Given the description of an element on the screen output the (x, y) to click on. 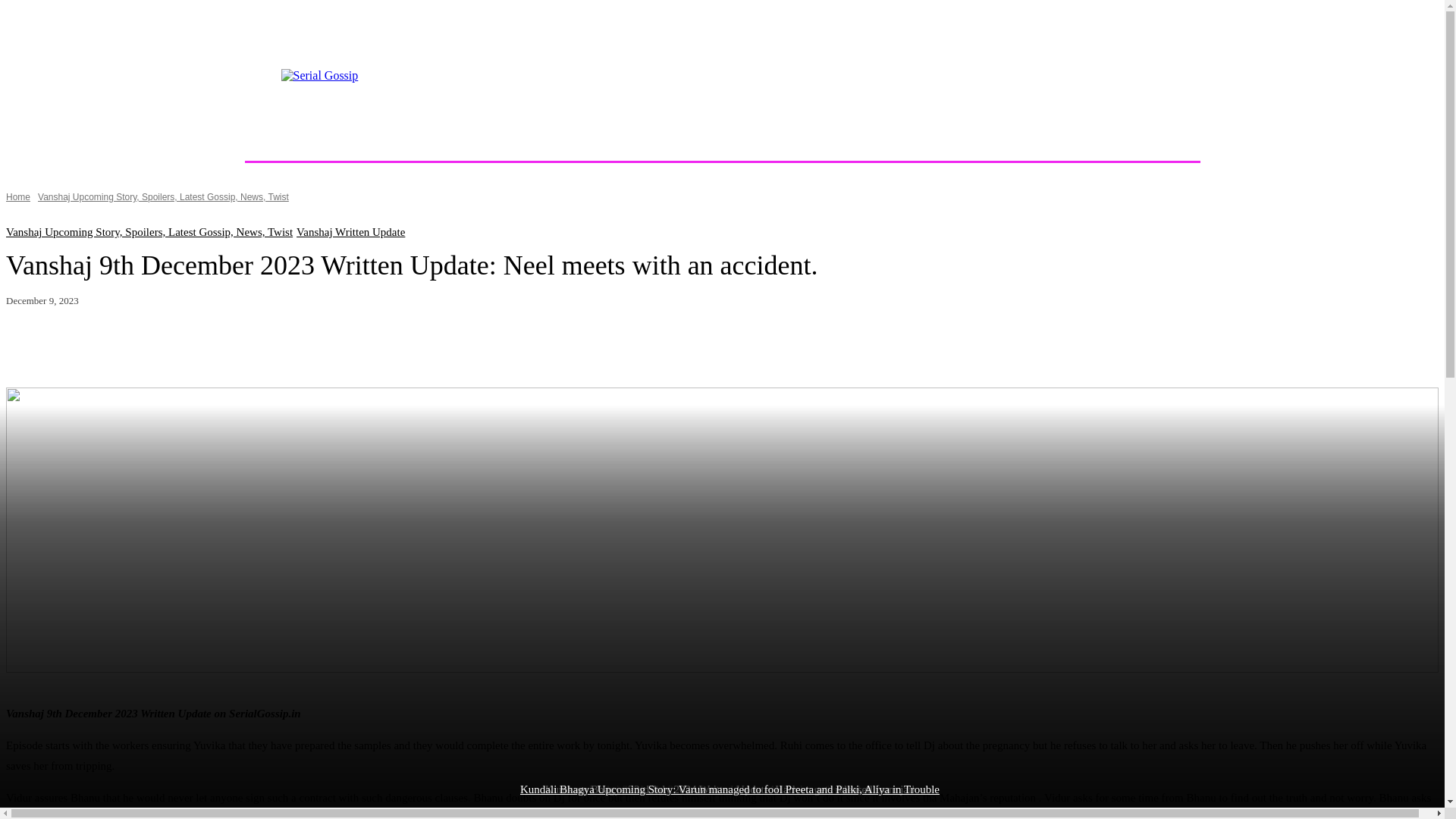
Serial Gossip (430, 88)
Star Plus (359, 141)
Sitemap (598, 141)
About Us (542, 141)
Colors TV (479, 141)
Home (307, 141)
Zee TV (417, 141)
HOME (307, 141)
STAR PLUS (359, 141)
